Given the description of an element on the screen output the (x, y) to click on. 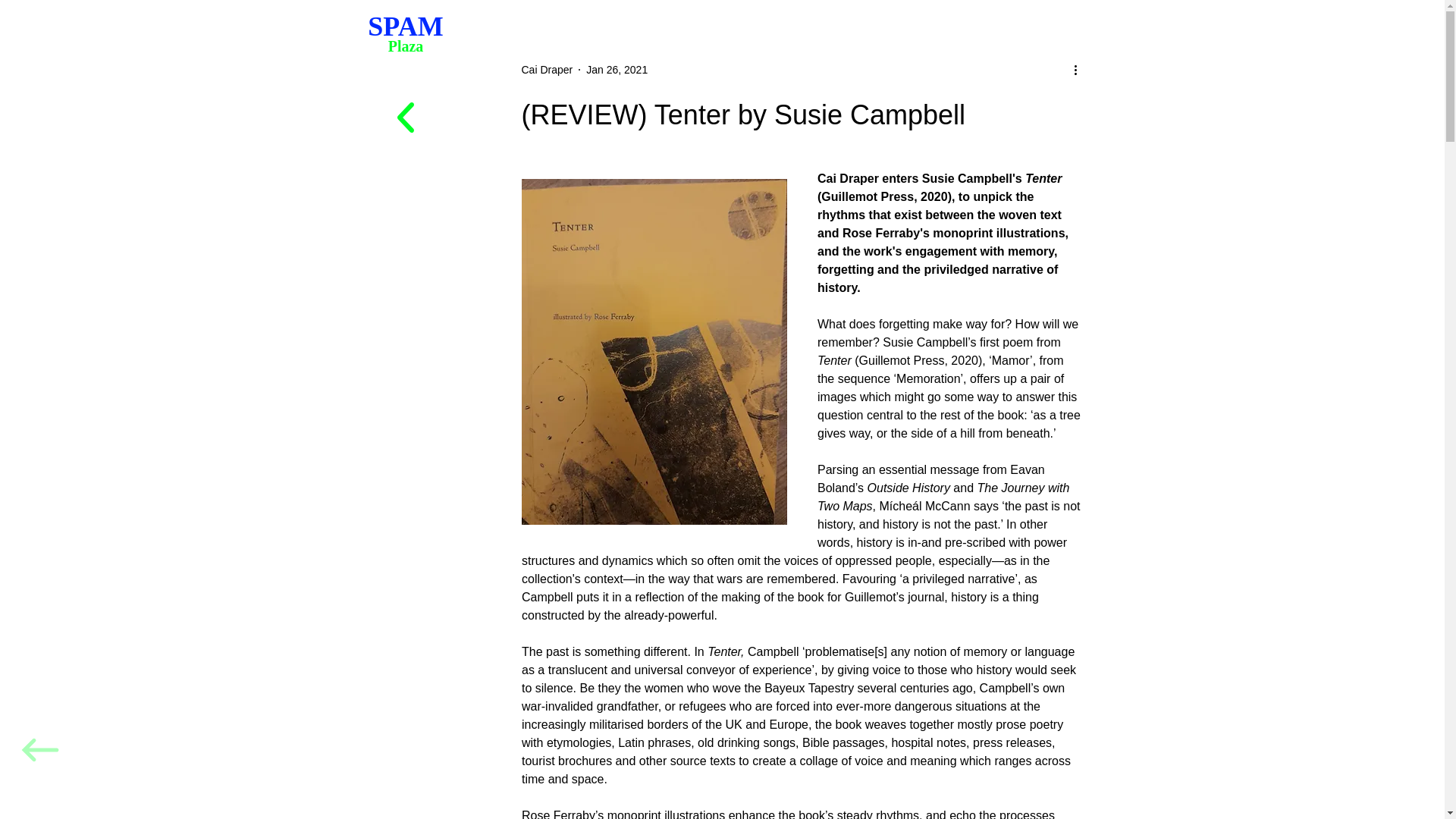
Cai Draper (405, 42)
Jan 26, 2021 (547, 69)
